Given the description of an element on the screen output the (x, y) to click on. 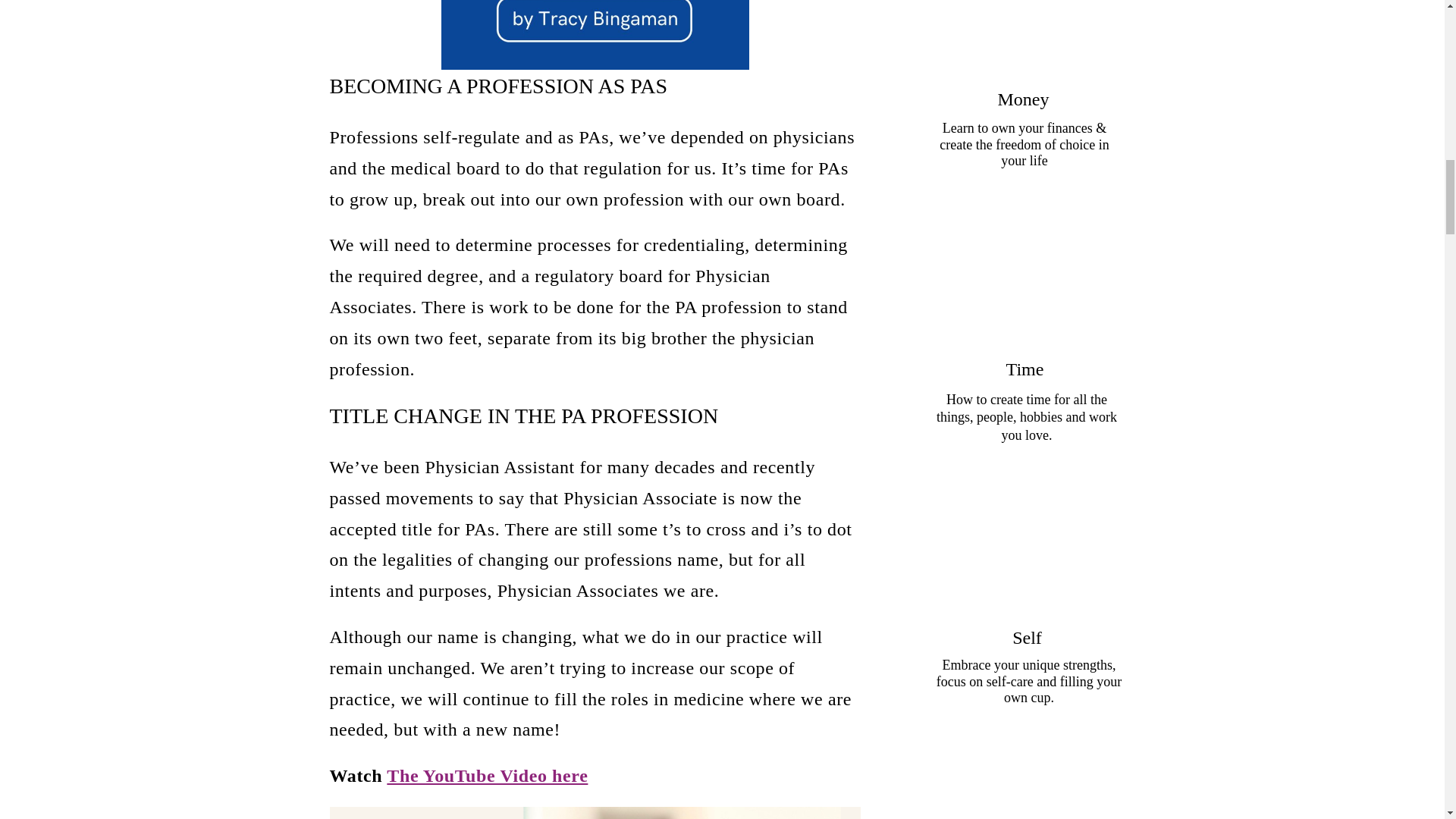
Self (1026, 637)
Time (1023, 368)
Money (1022, 99)
